Given the description of an element on the screen output the (x, y) to click on. 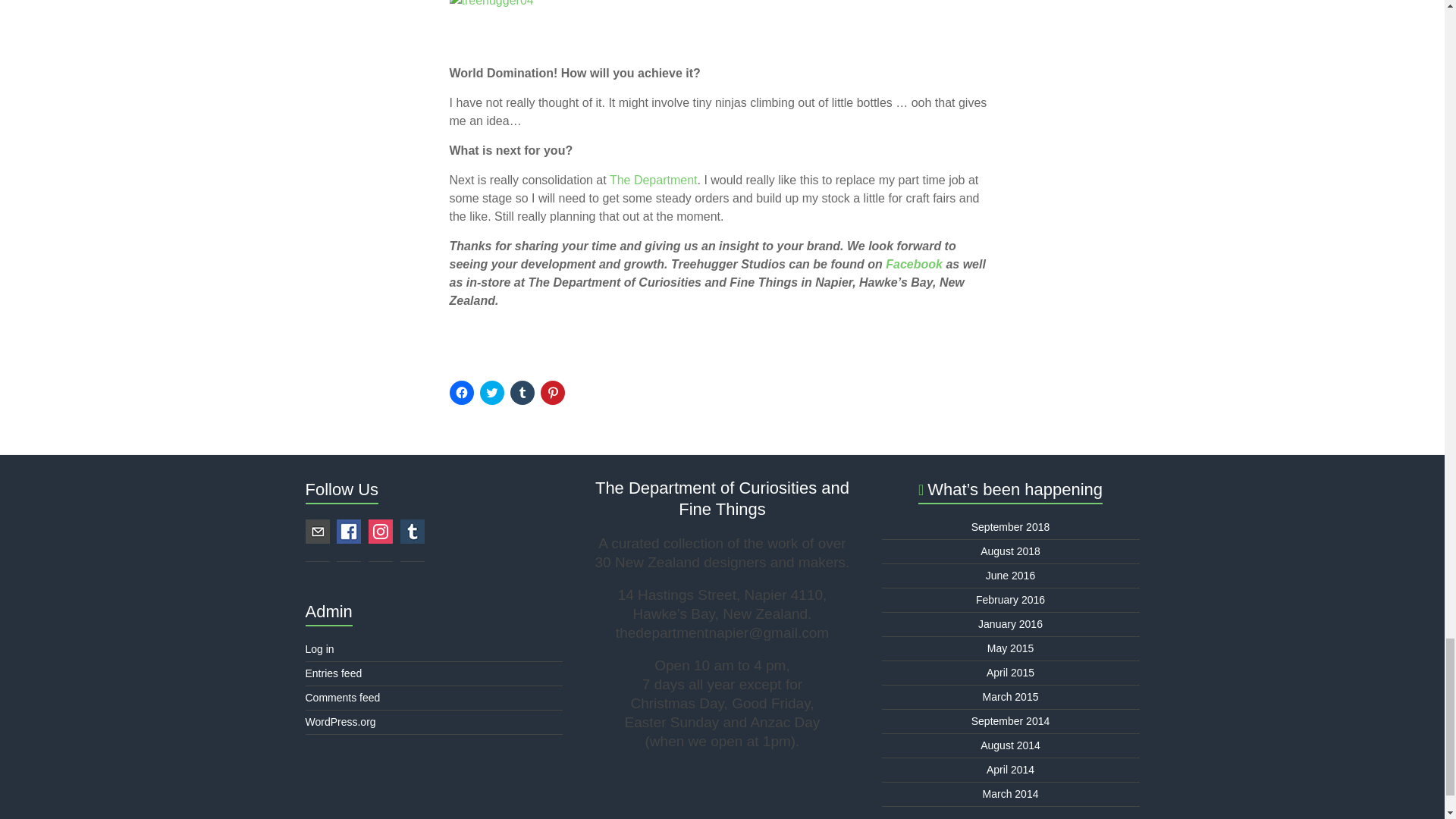
Click to share on Pinterest (552, 392)
Click to share on Tumblr (521, 392)
Entries feed (332, 673)
The Department on Facebook (653, 179)
Click to share on Twitter (491, 392)
Log in (318, 648)
Email (316, 531)
Facebook (913, 264)
Instagram (380, 531)
Facebook (348, 531)
The Department (653, 179)
Click to share on Facebook (460, 392)
